Given the description of an element on the screen output the (x, y) to click on. 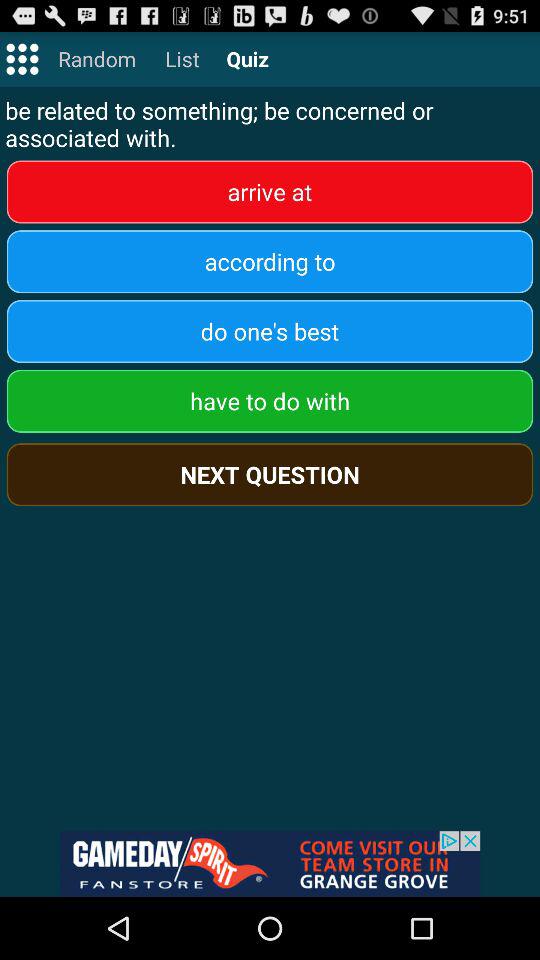
visit this advertiser page (270, 864)
